Given the description of an element on the screen output the (x, y) to click on. 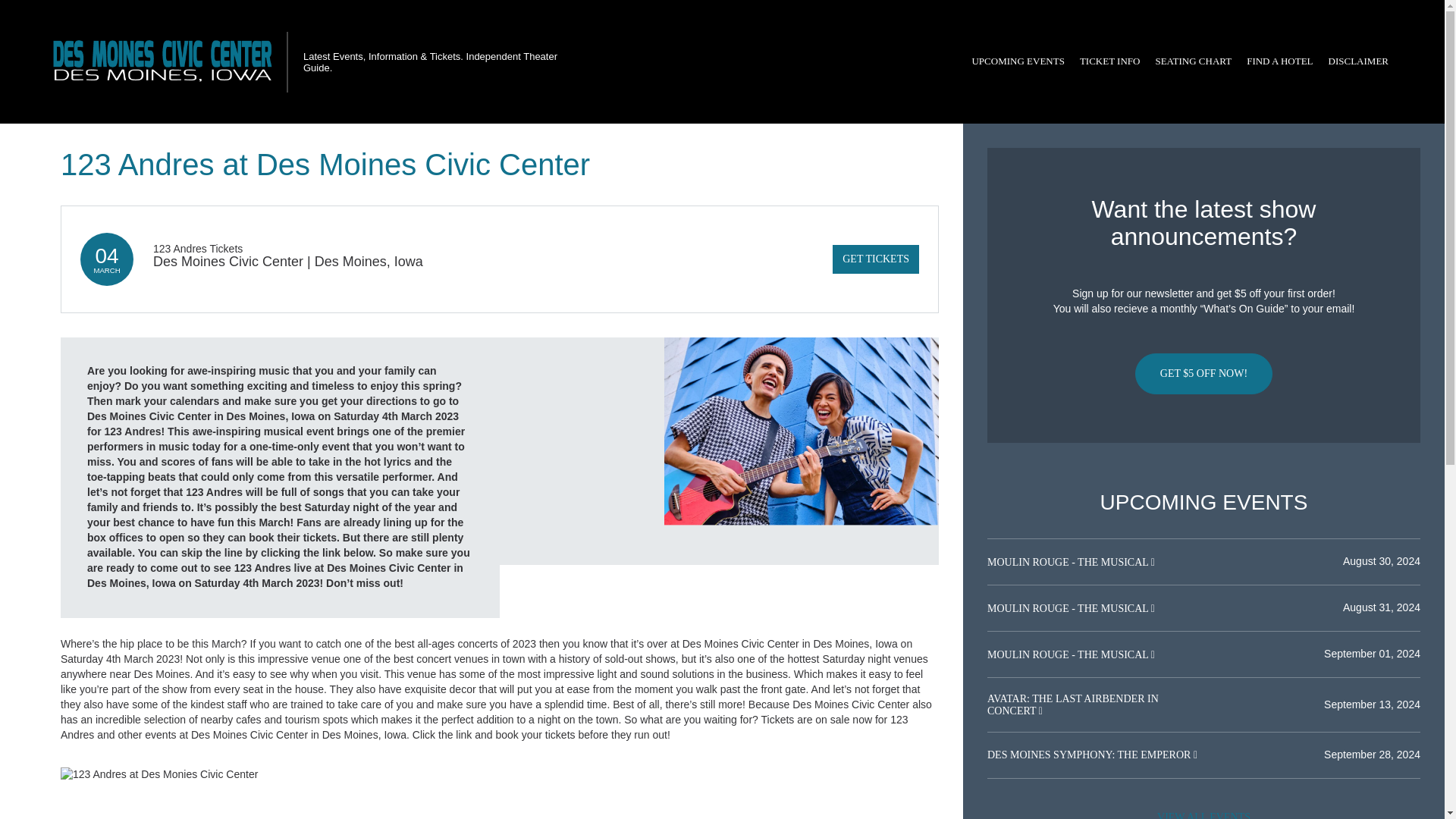
MOULIN ROUGE - THE MUSICAL (1069, 654)
MOULIN ROUGE - THE MUSICAL (1069, 562)
123 Andres at Des Monies Civic Center tickets (500, 774)
123 Andres at Des Monies Civic Center (801, 451)
TICKET INFO (1109, 61)
123 Andres Tickets (197, 248)
MOULIN ROUGE - THE MUSICAL (1069, 608)
GET TICKETS (875, 258)
UPCOMING EVENTS (1017, 61)
VIEW ALL EVENTS (1203, 811)
